Given the description of an element on the screen output the (x, y) to click on. 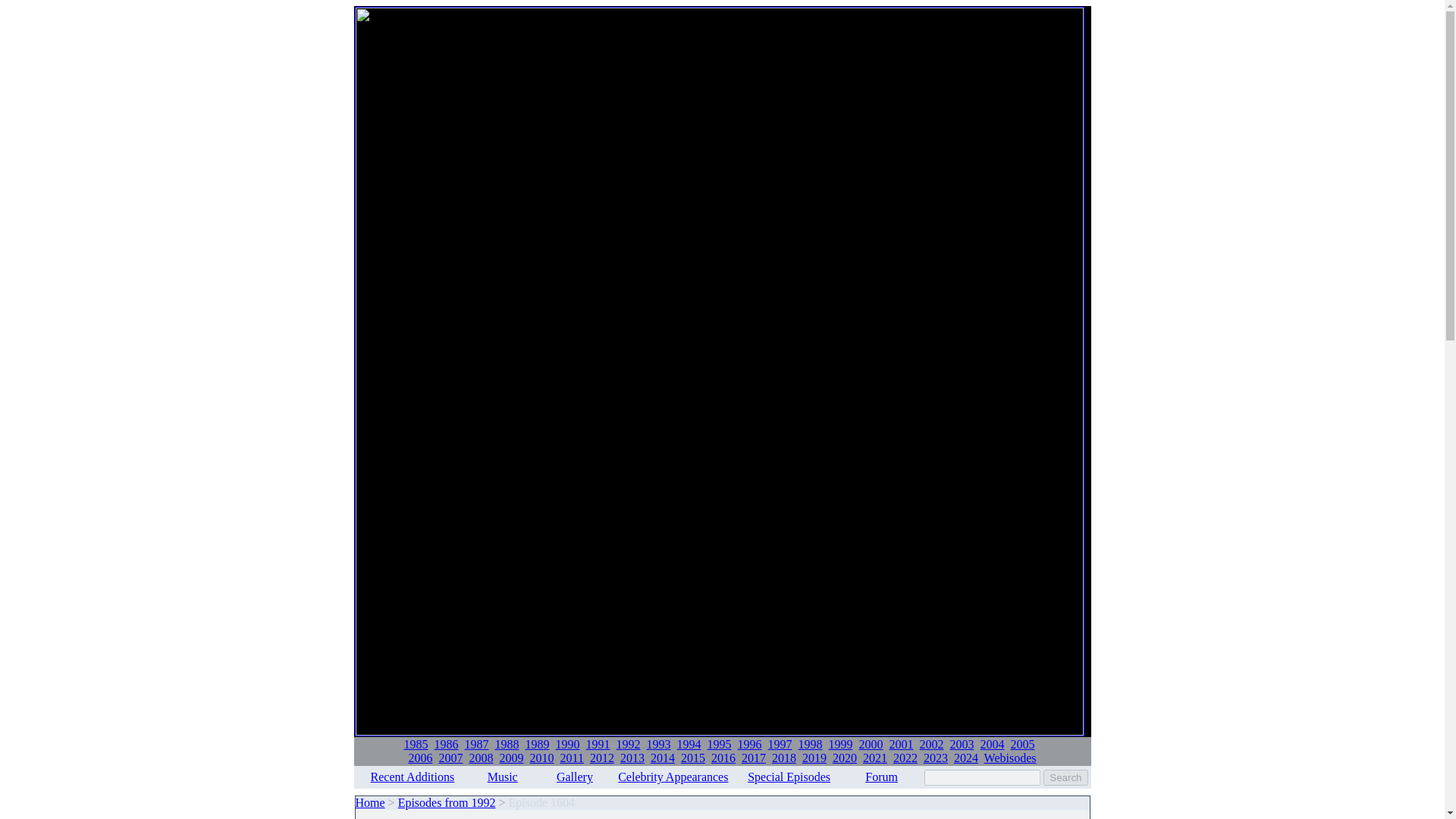
2015 (692, 757)
2008 (480, 757)
2019 (814, 757)
1994 (688, 744)
1990 (566, 744)
1988 (506, 744)
2007 (450, 757)
2018 (783, 757)
2013 (632, 757)
2014 (662, 757)
